Given the description of an element on the screen output the (x, y) to click on. 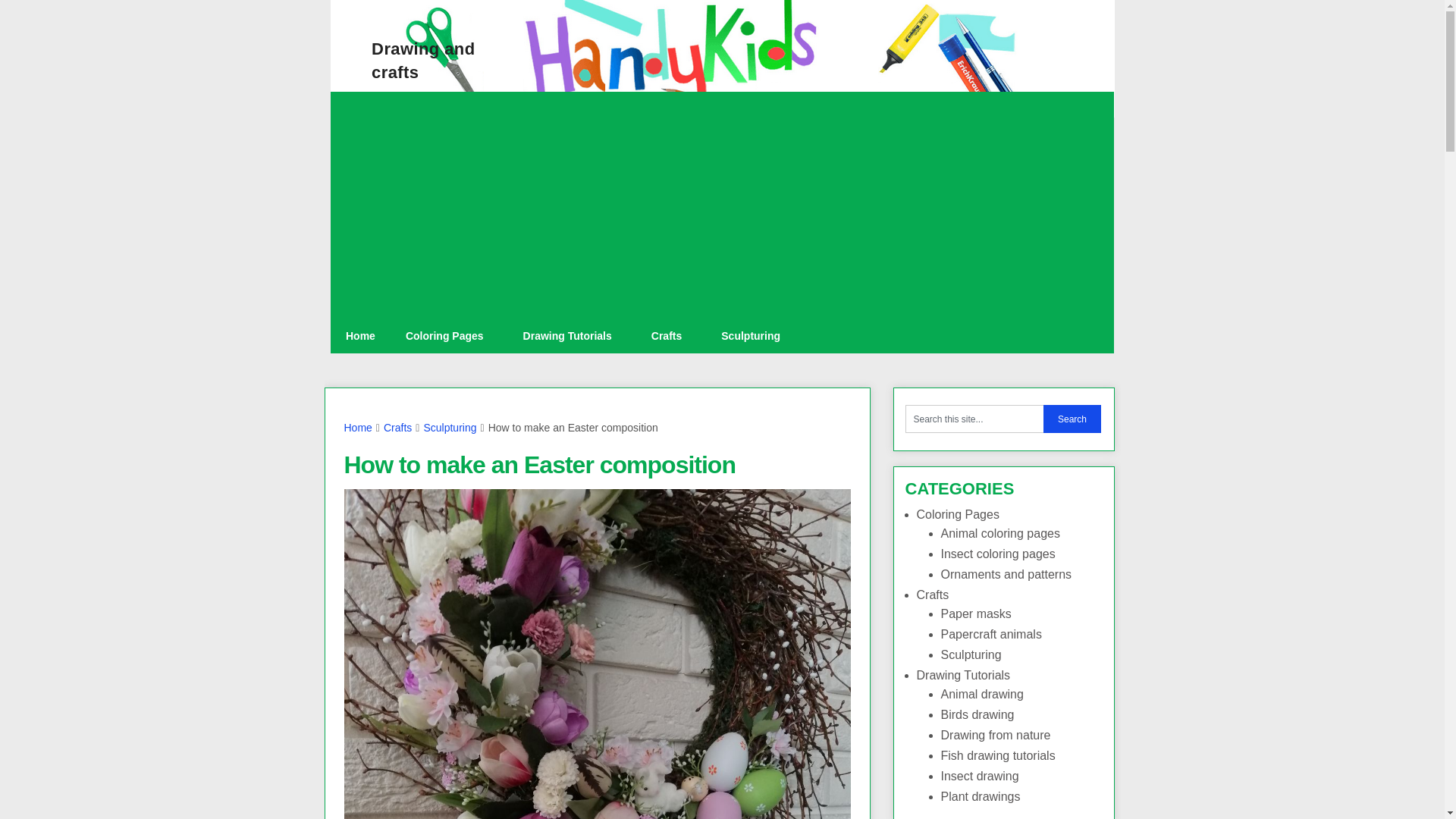
Drawing Tutorials (572, 335)
Drawing and crafts (422, 60)
Crafts (398, 427)
Crafts (671, 335)
Search this site... (974, 418)
Home (360, 335)
Sculpturing (449, 427)
Coloring Pages (449, 335)
Search (1072, 418)
Sculpturing (750, 335)
Home (357, 427)
